Given the description of an element on the screen output the (x, y) to click on. 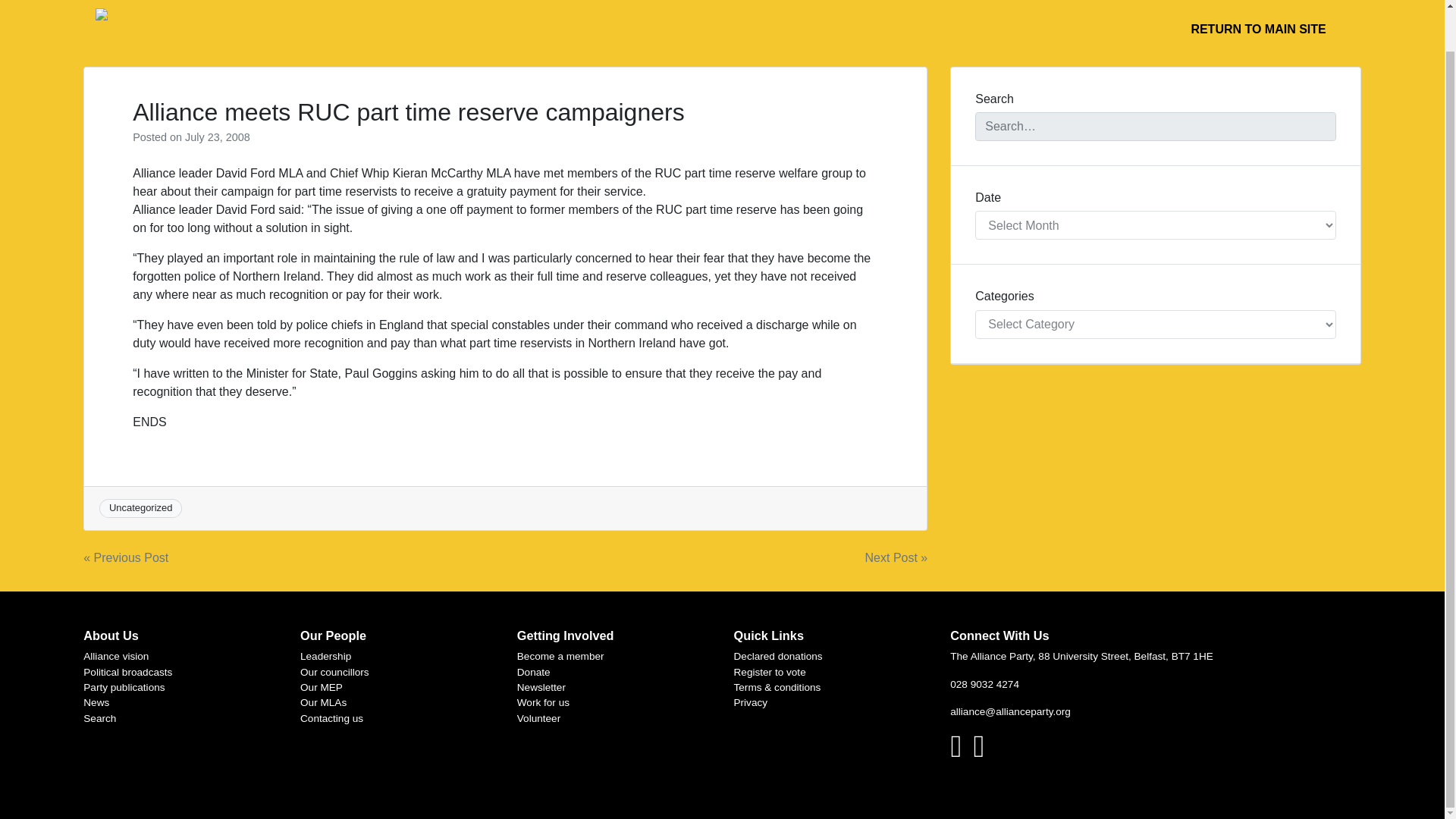
Search (99, 717)
Declared donations (777, 655)
Privacy (750, 702)
Contacting us (330, 717)
News (95, 702)
Political broadcasts (126, 672)
Volunteer (538, 717)
Alliance vision (115, 655)
Register to vote (769, 672)
Party publications (123, 686)
Leadership (324, 655)
Work for us (542, 702)
Become a member (560, 655)
Our MLAs (322, 702)
Our MEP (320, 686)
